Given the description of an element on the screen output the (x, y) to click on. 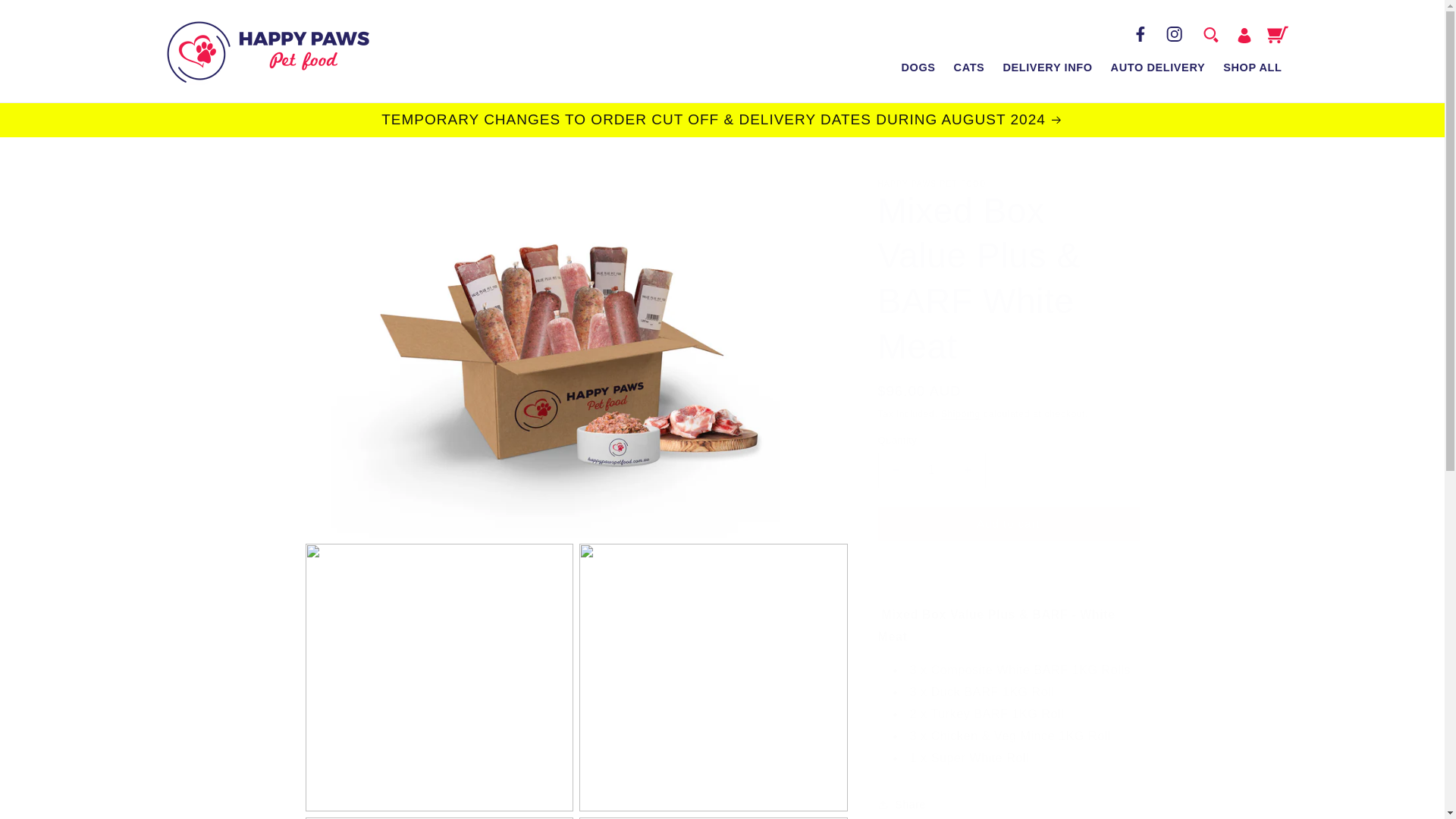
DOGS (917, 67)
SHOP ALL (1252, 67)
Log in (1243, 34)
CATS (969, 67)
AUTO DELIVERY (1158, 67)
Skip to product information (350, 180)
Facebook (1139, 33)
Skip to content (45, 16)
1 (931, 470)
Open media 2 in modal (438, 677)
Shipping (959, 413)
DELIVERY INFO (1046, 67)
